Given the description of an element on the screen output the (x, y) to click on. 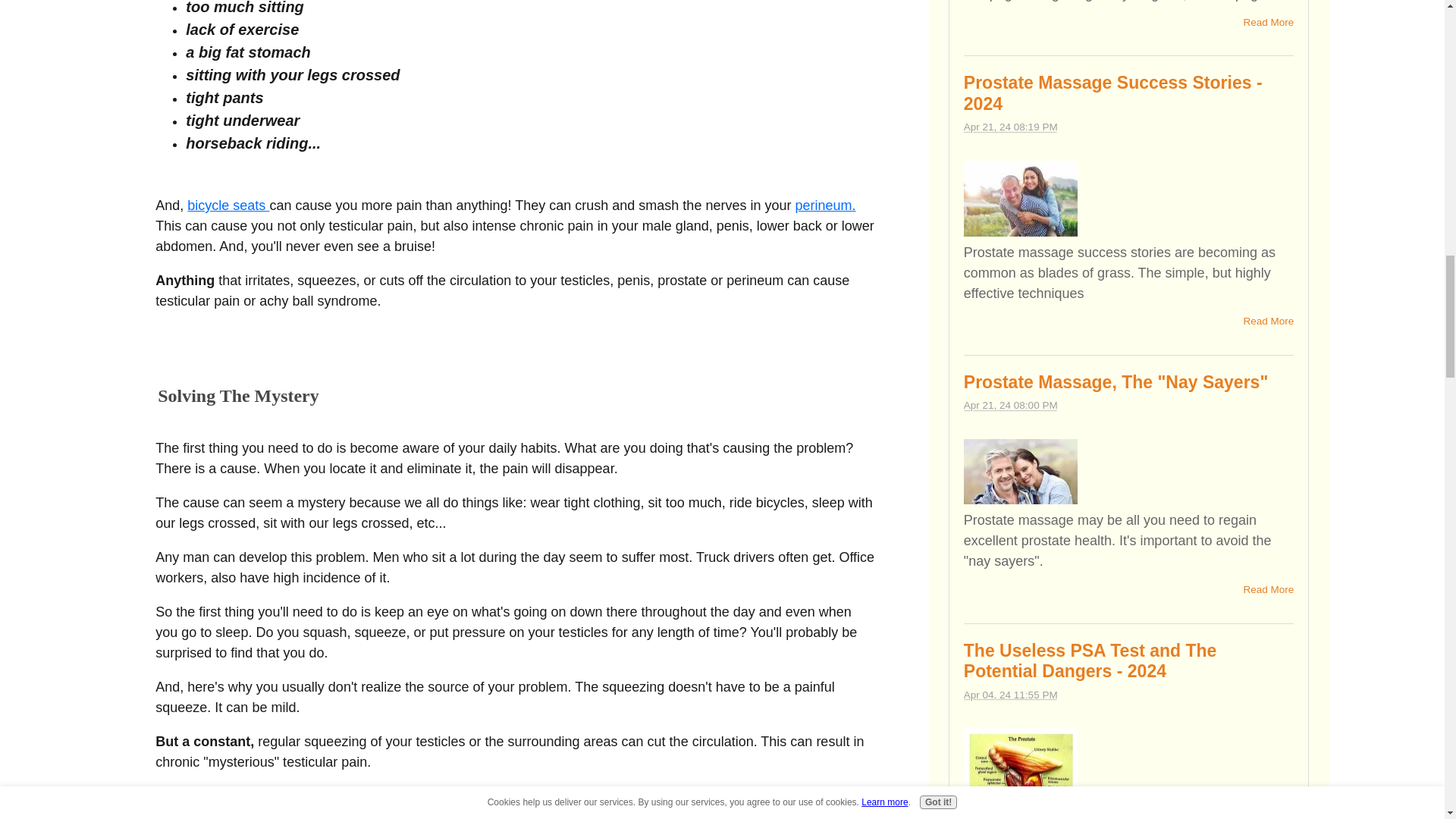
2024-04-21T20:00:42-0400 (1010, 405)
2024-04-04T23:55:46-0400 (1010, 695)
2024-04-21T20:19:46-0400 (1010, 126)
